Given the description of an element on the screen output the (x, y) to click on. 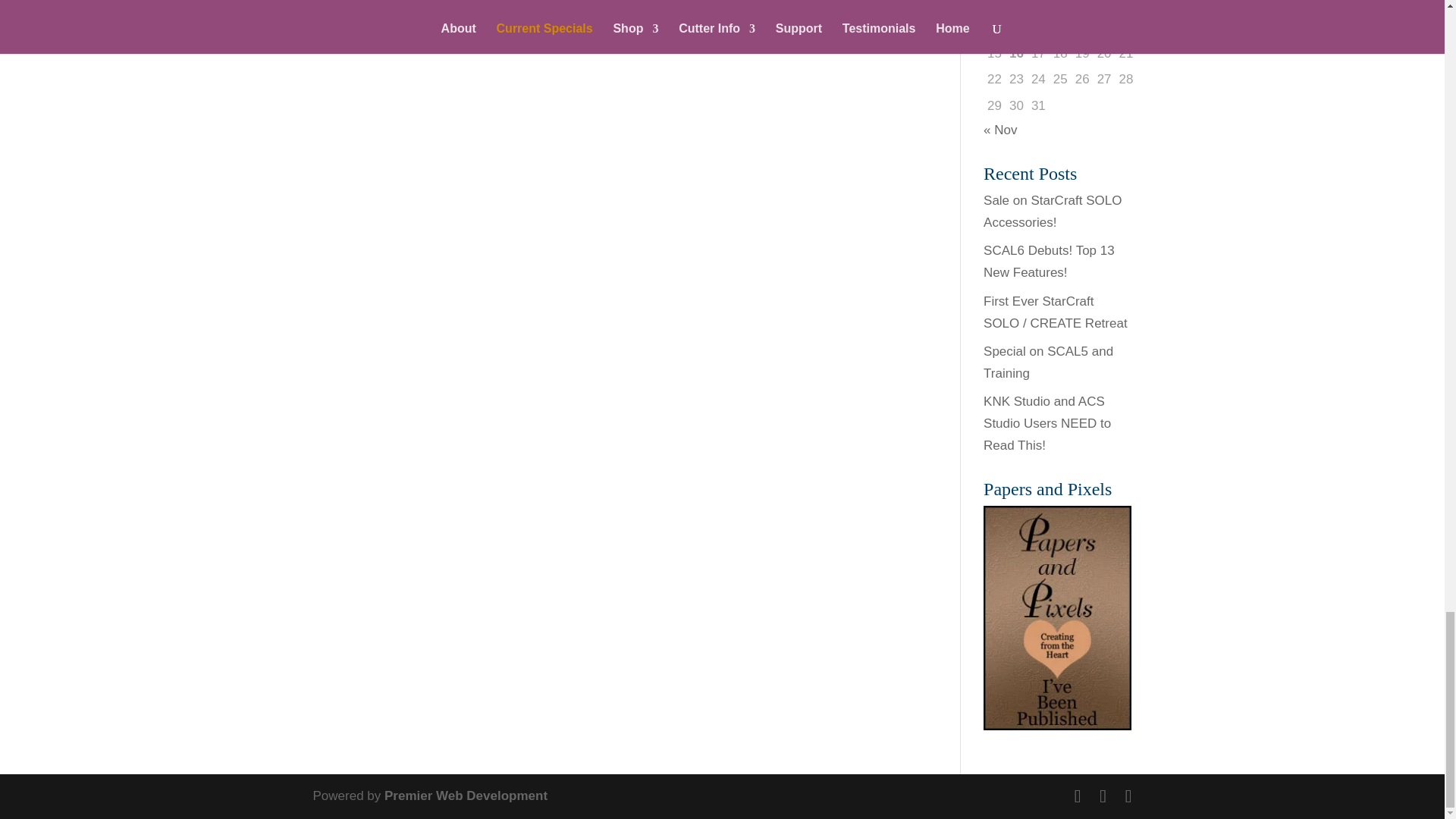
P and P Badge (1057, 618)
